Given the description of an element on the screen output the (x, y) to click on. 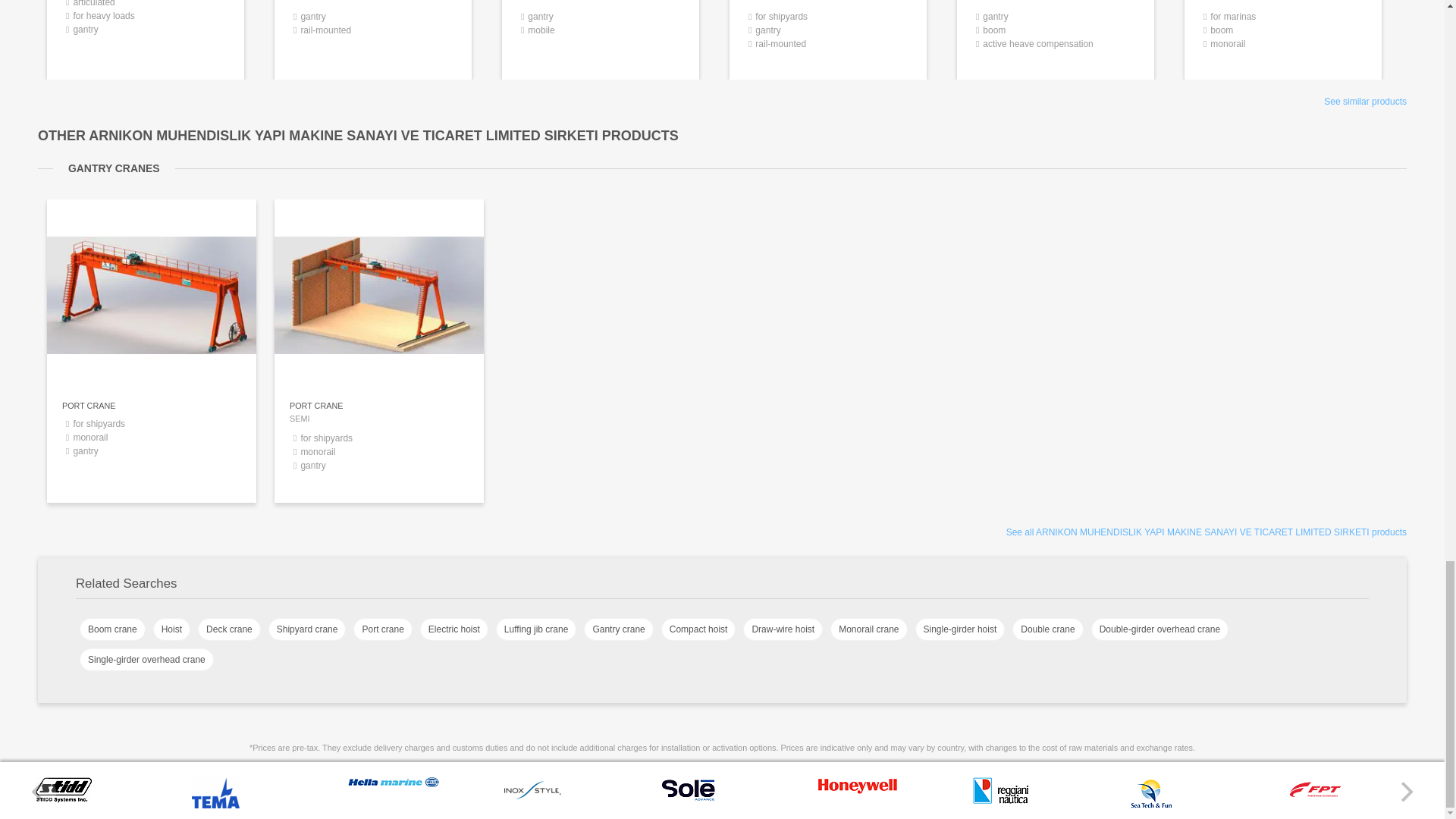
Enraf Marine Systems (373, 36)
STIDD Systems (857, 791)
Reggiani Nautica (63, 799)
Sea Tech and Fun - Spade (1055, 36)
Inoxstyle (999, 800)
FPT Industrial S.p.A. (1151, 806)
